Given the description of an element on the screen output the (x, y) to click on. 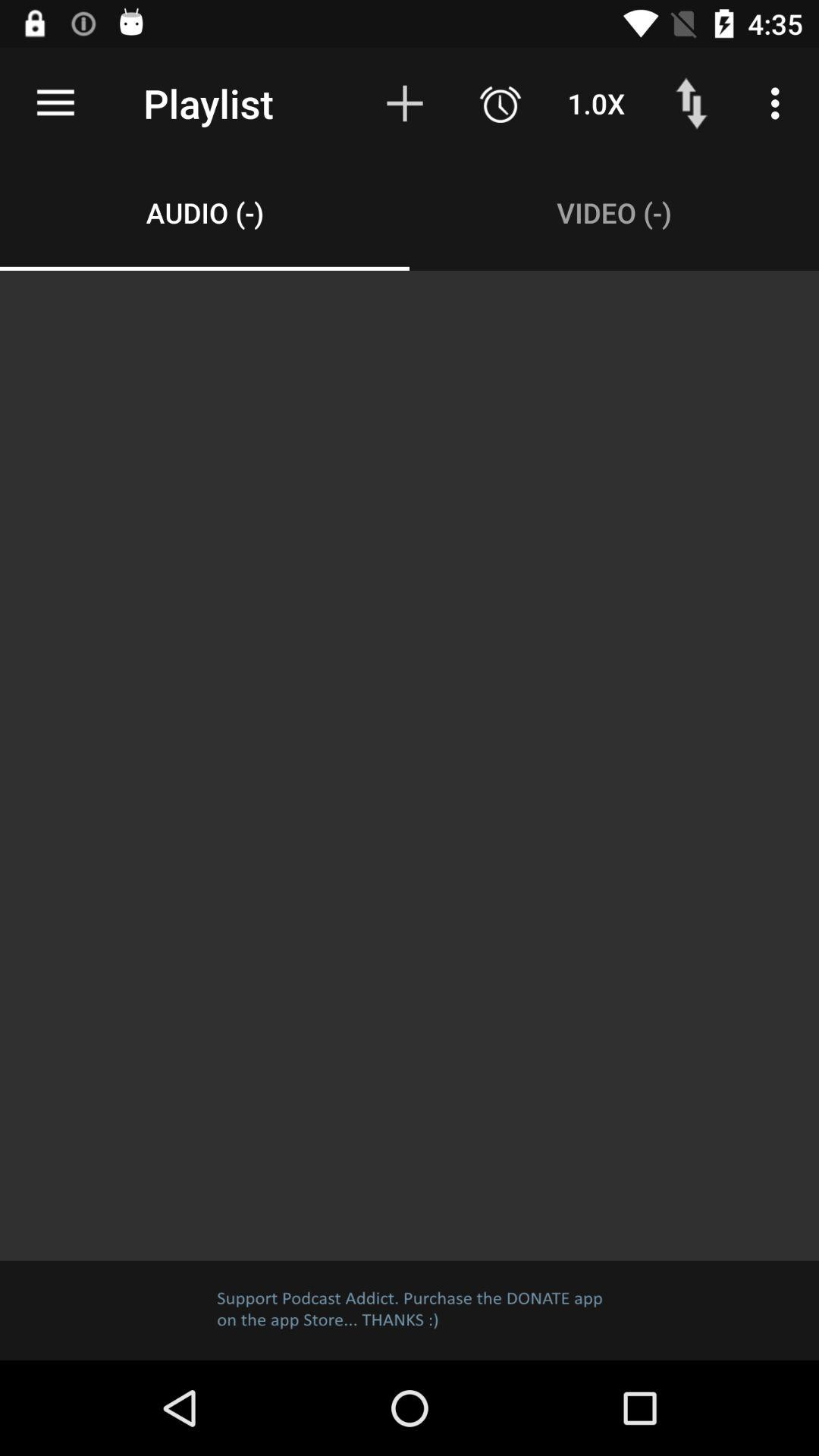
tap the audio (-) item (204, 212)
